Given the description of an element on the screen output the (x, y) to click on. 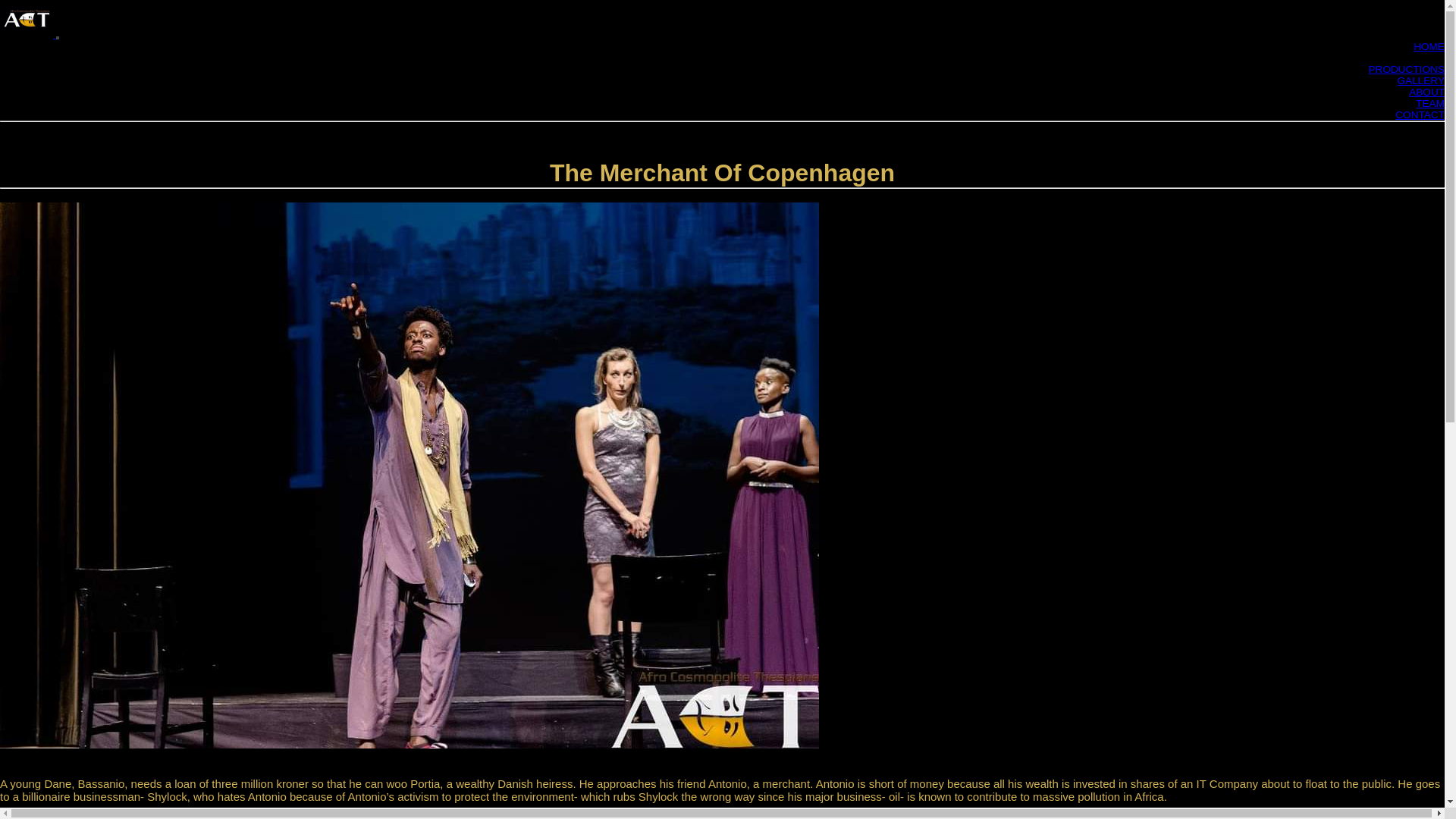
PRODUCTIONS (1406, 69)
ABOUT (1426, 91)
GALLERY (1420, 80)
HOME (1428, 46)
CONTACT (1419, 114)
TEAM (1429, 102)
